Given the description of an element on the screen output the (x, y) to click on. 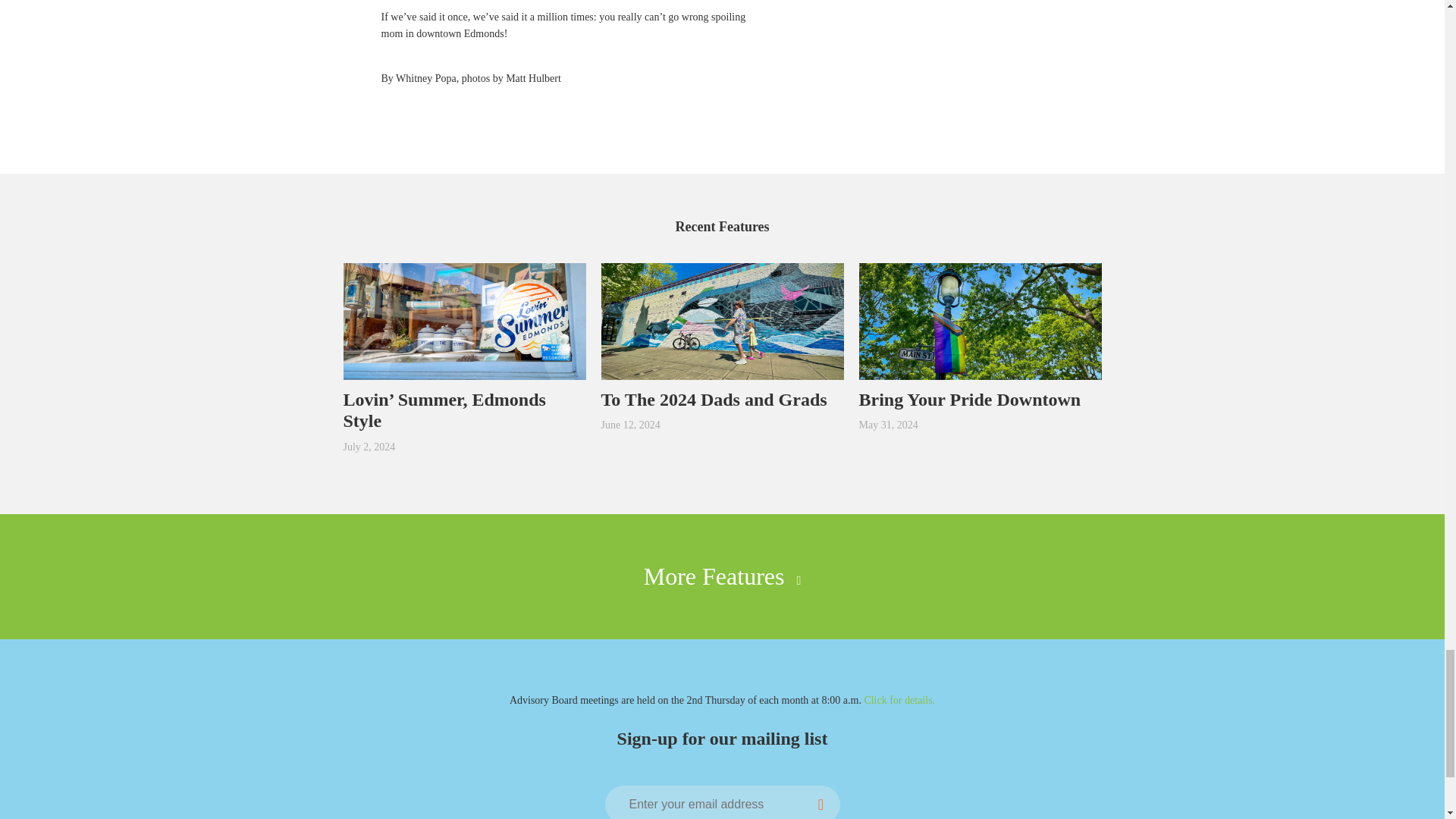
Subscribe (821, 802)
